Given the description of an element on the screen output the (x, y) to click on. 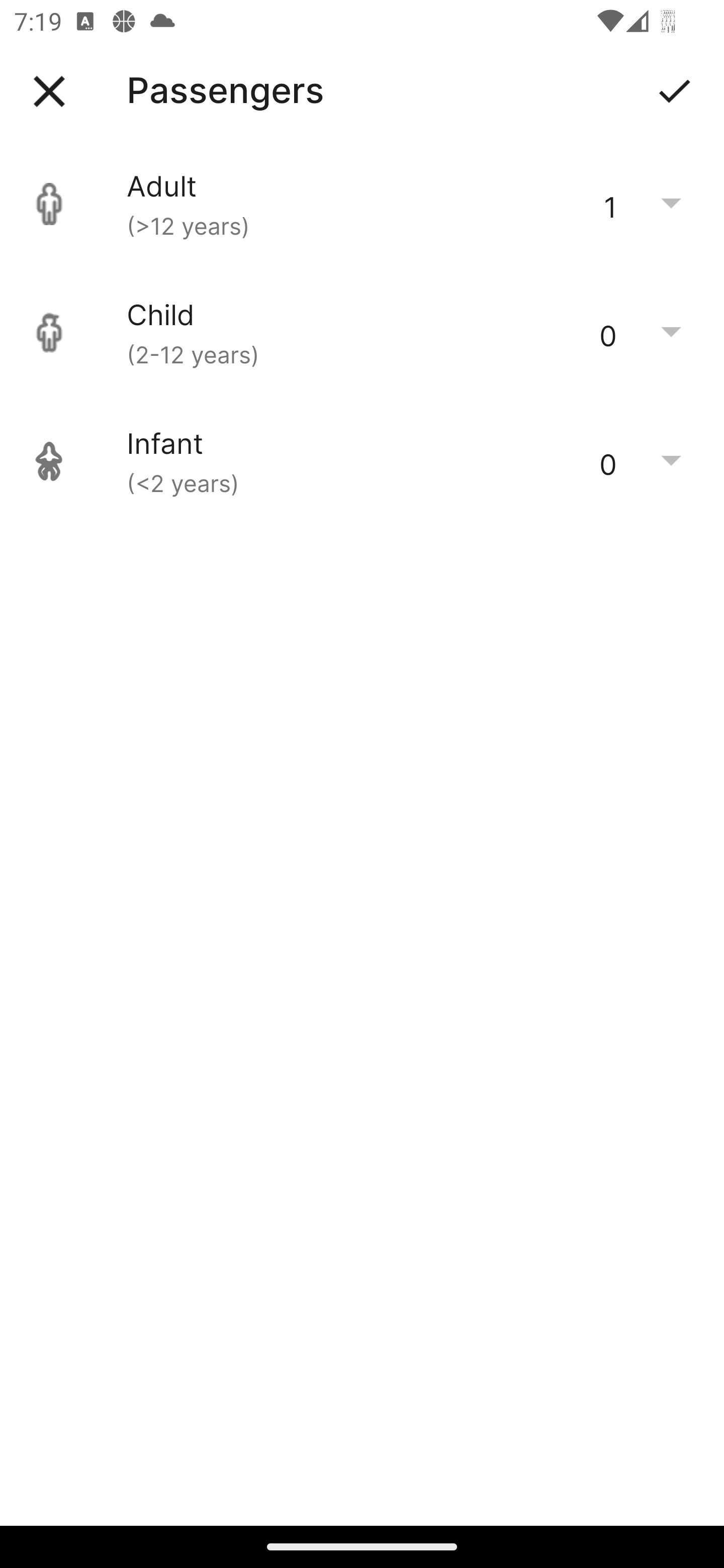
Adult (>12 years) 1 (362, 204)
Child (2-12 years) 0 (362, 332)
Infant (<2 years) 0 (362, 461)
